Given the description of an element on the screen output the (x, y) to click on. 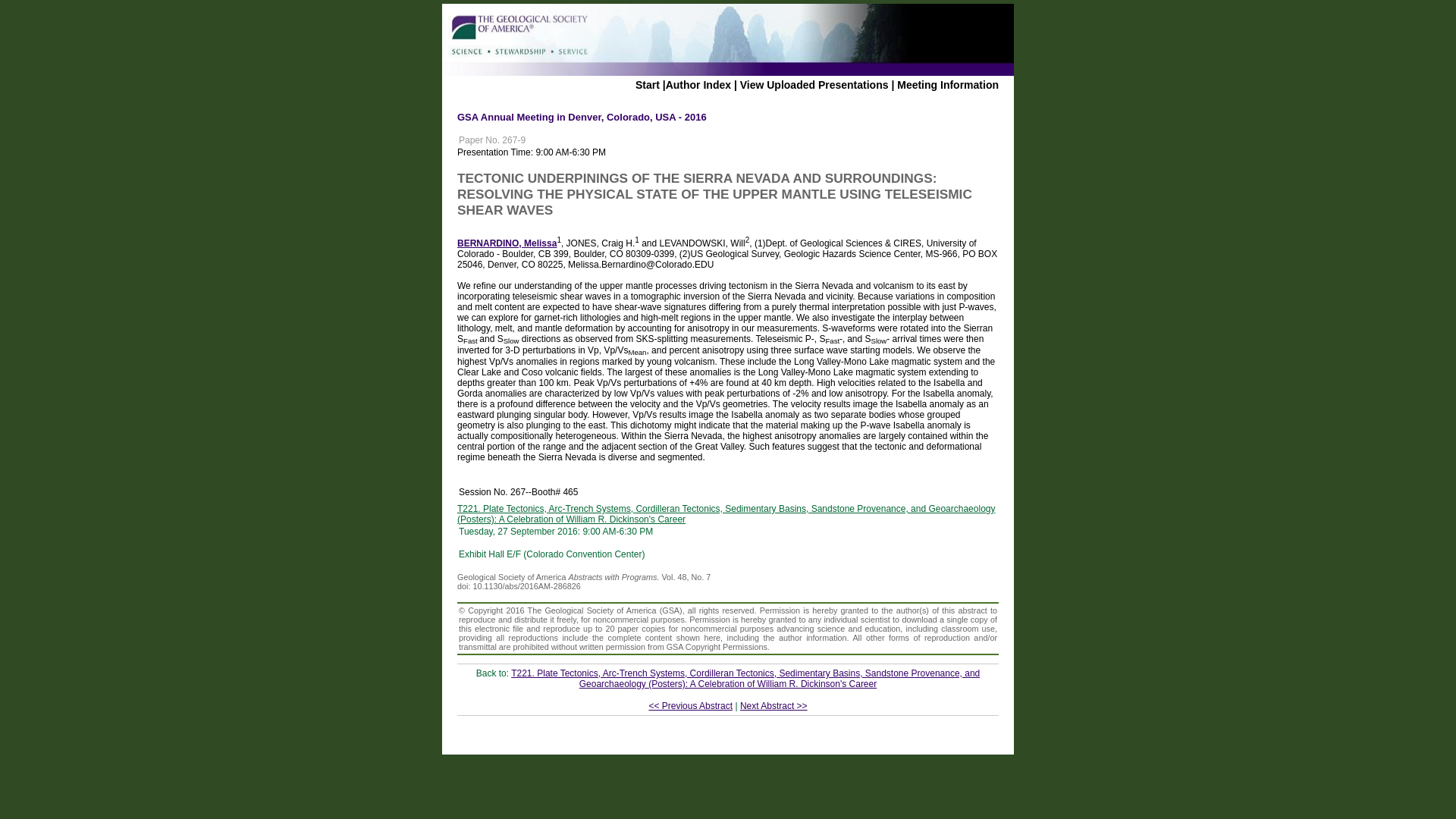
View Uploaded Presentations (813, 84)
Meeting Information (947, 84)
BERNARDINO, Melissa (506, 243)
Author Index (697, 84)
Start (646, 84)
